Given the description of an element on the screen output the (x, y) to click on. 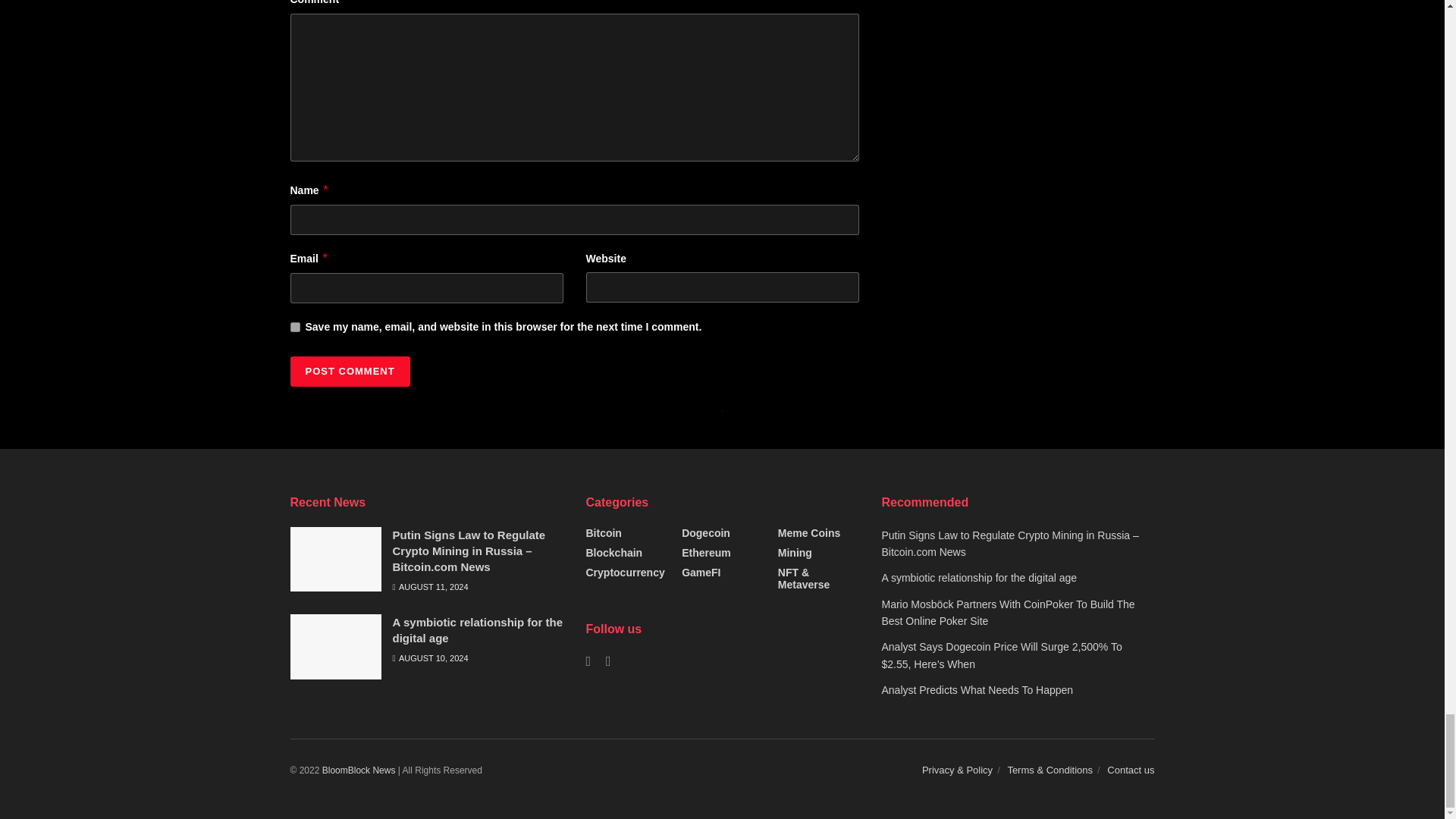
yes (294, 327)
Post Comment (349, 371)
Premium news  (358, 769)
